Given the description of an element on the screen output the (x, y) to click on. 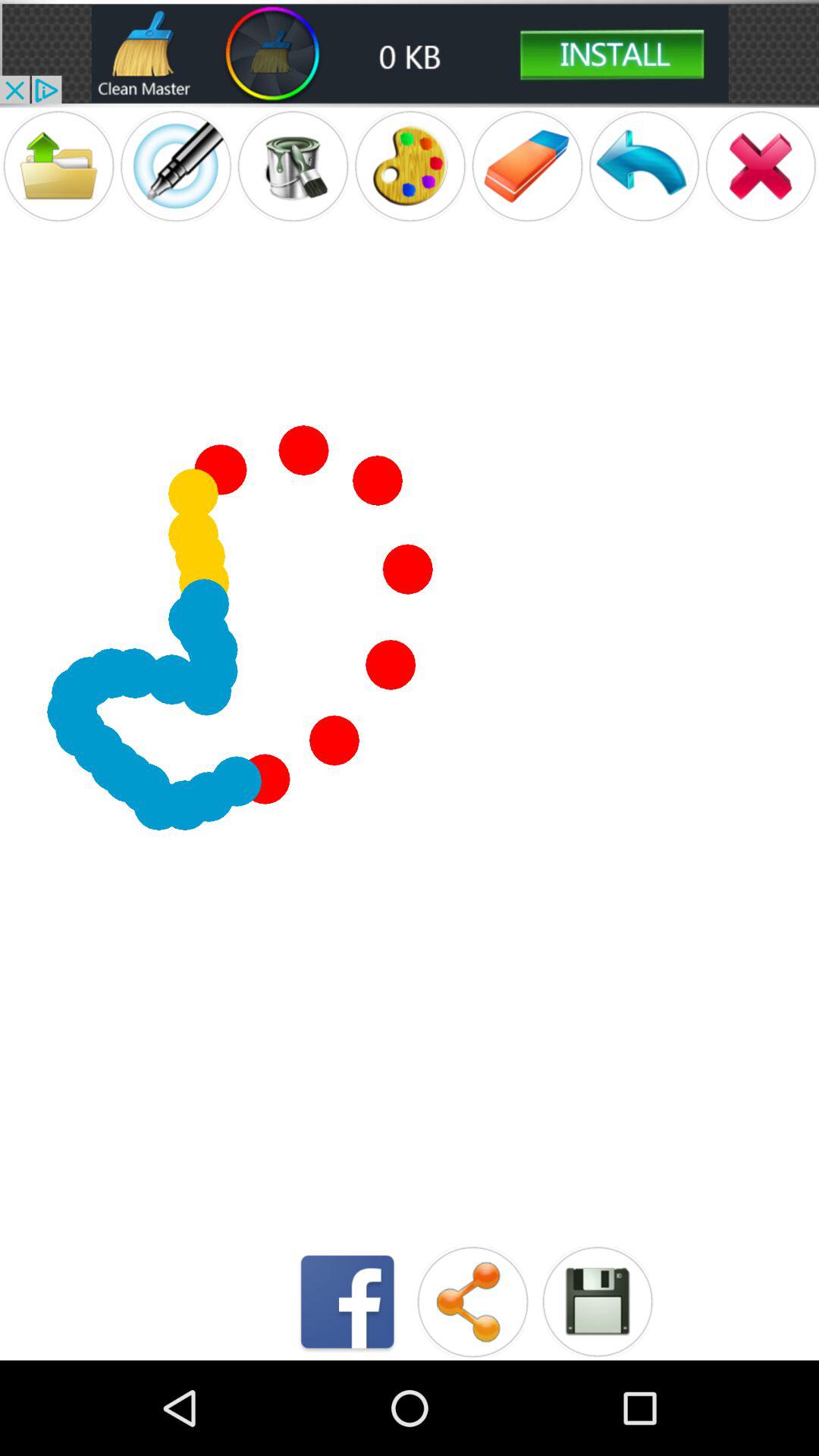
painting (409, 165)
